Given the description of an element on the screen output the (x, y) to click on. 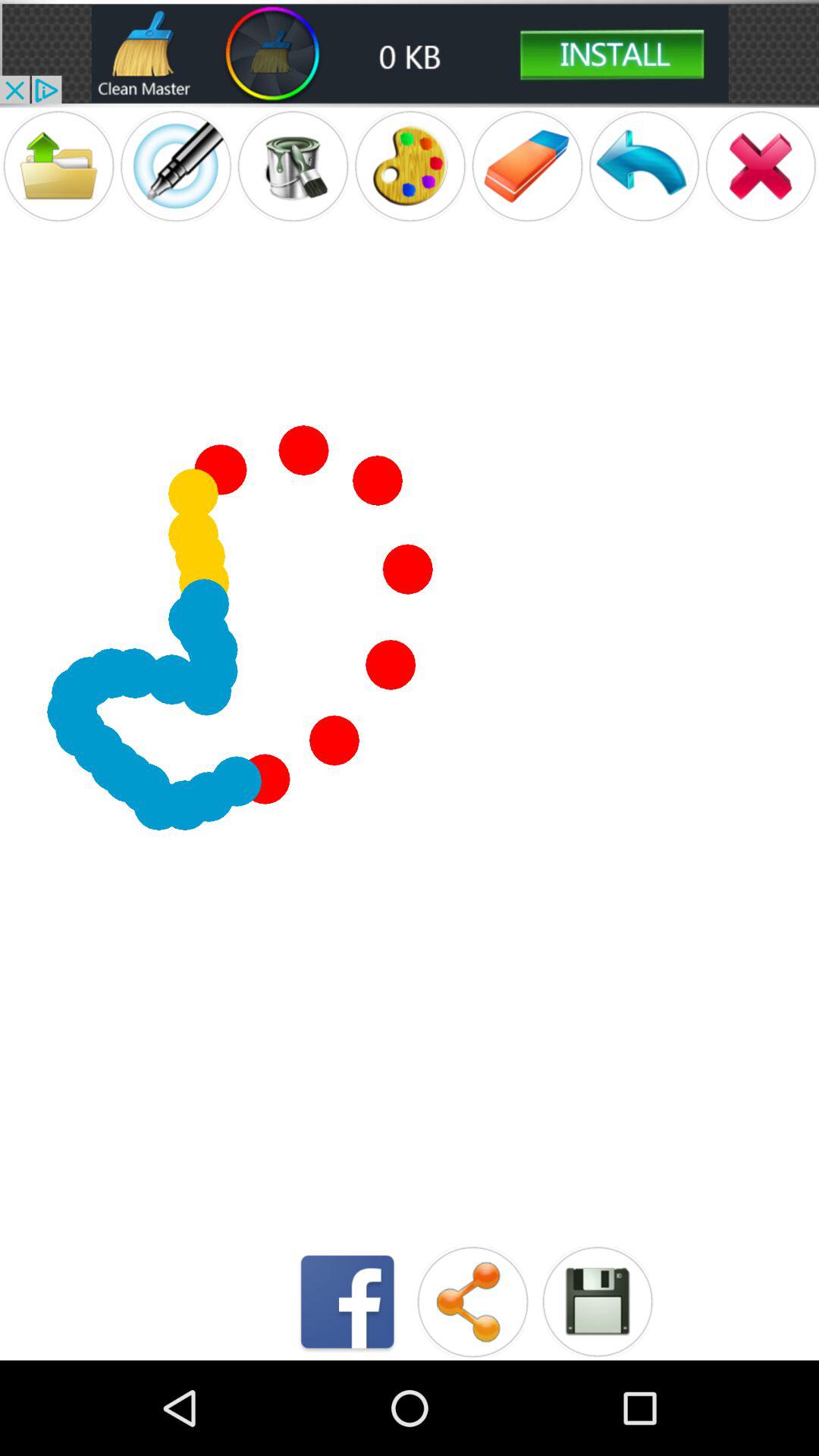
painting (409, 165)
